Given the description of an element on the screen output the (x, y) to click on. 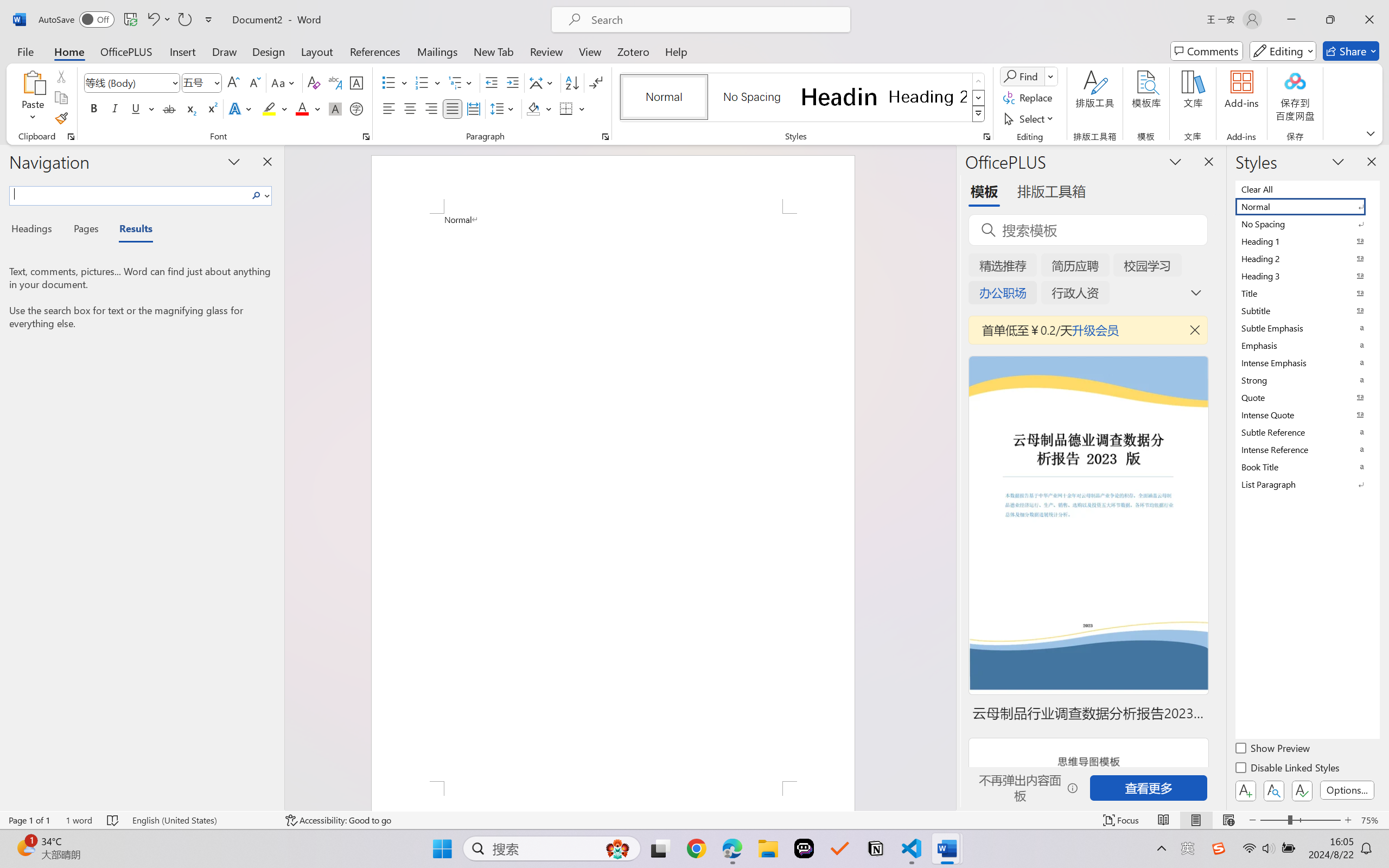
Clear Formatting (313, 82)
Class: MsoCommandBar (694, 819)
File Tab (24, 51)
Italic (115, 108)
Customize Quick Access Toolbar (208, 19)
Font Size (196, 82)
New Tab (493, 51)
AutomationID: DynamicSearchBoxGleamImage (617, 848)
Print Layout (1196, 819)
Task Pane Options (1175, 161)
Search (256, 195)
